Given the description of an element on the screen output the (x, y) to click on. 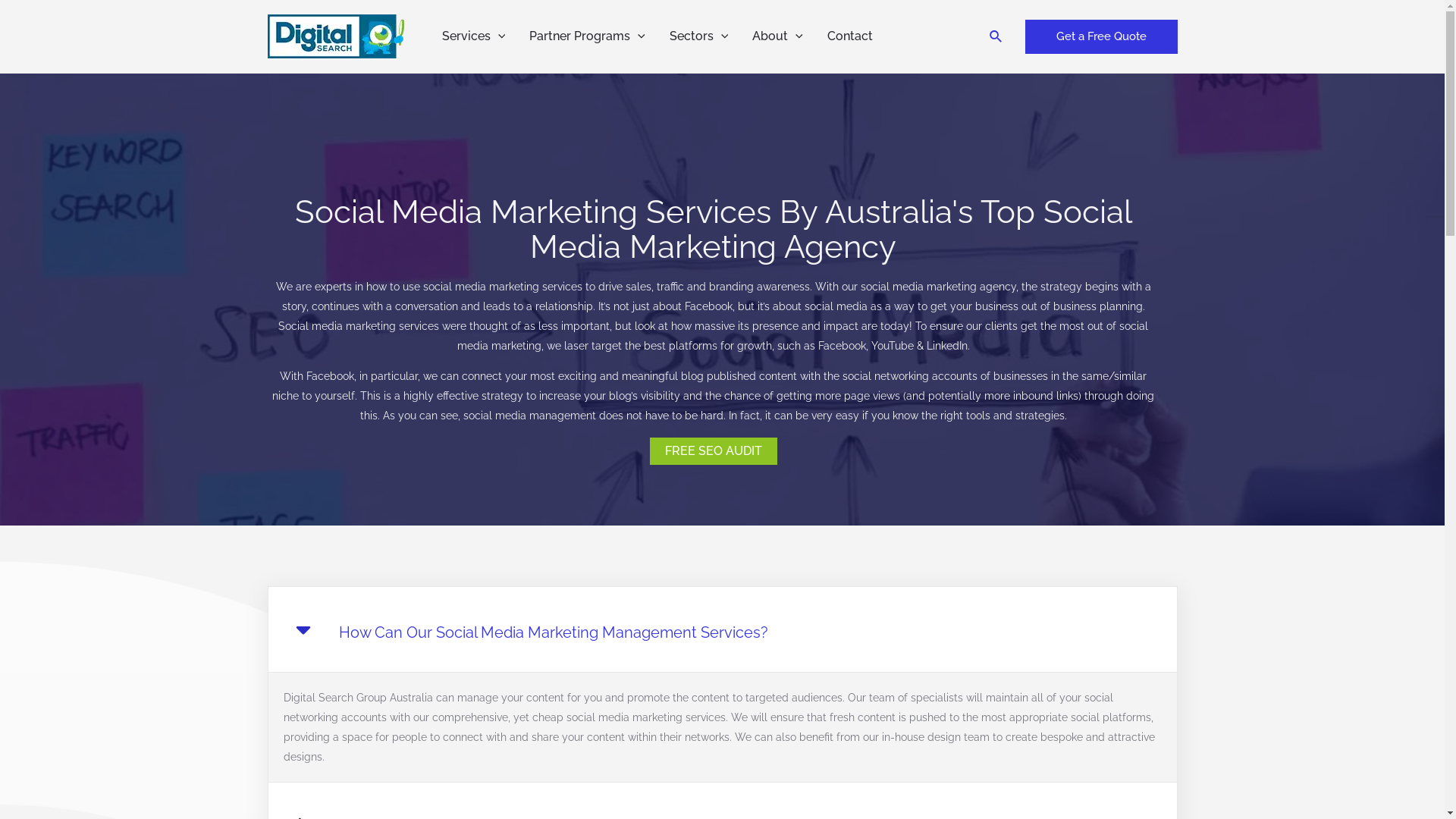
About Element type: text (777, 36)
Sectors Element type: text (698, 36)
How Can Our Social Media Marketing Management Services? Element type: text (552, 632)
FREE SEO AUDIT Element type: text (712, 450)
Get a Free Quote Element type: text (1101, 36)
Partner Programs Element type: text (587, 36)
Contact Element type: text (849, 36)
Services Element type: text (473, 36)
Search Element type: text (996, 36)
